Given the description of an element on the screen output the (x, y) to click on. 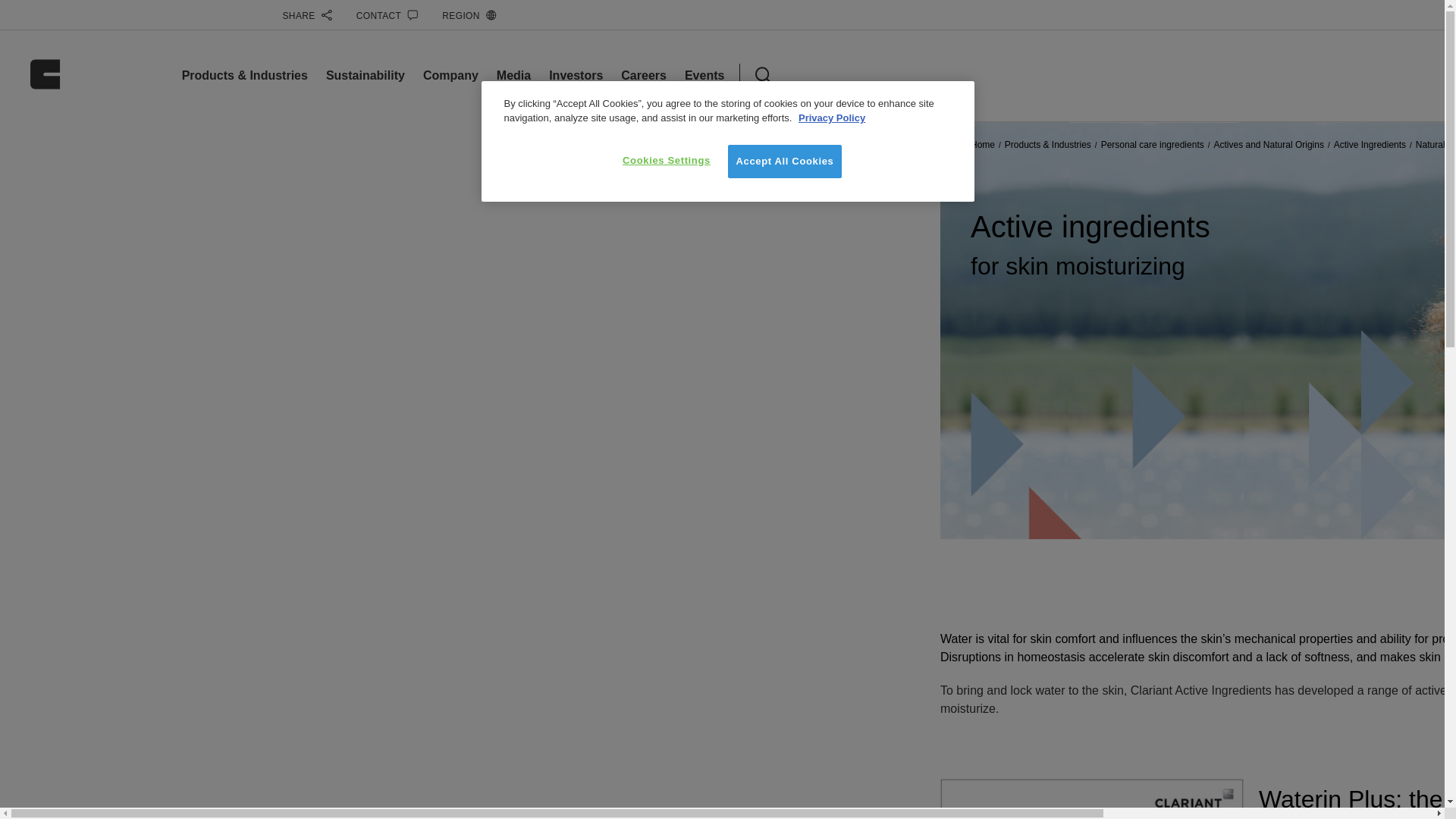
Investors (575, 74)
REGION (469, 14)
Home (982, 144)
Events (703, 74)
CONTACT (387, 14)
Personal care ingredients (1152, 144)
Media (513, 74)
Investors (575, 74)
Actives and Natural Origins (1267, 144)
Media (513, 74)
Company (451, 74)
Sustainability (365, 74)
Sustainability (365, 74)
Careers (643, 74)
SHARE (306, 14)
